Given the description of an element on the screen output the (x, y) to click on. 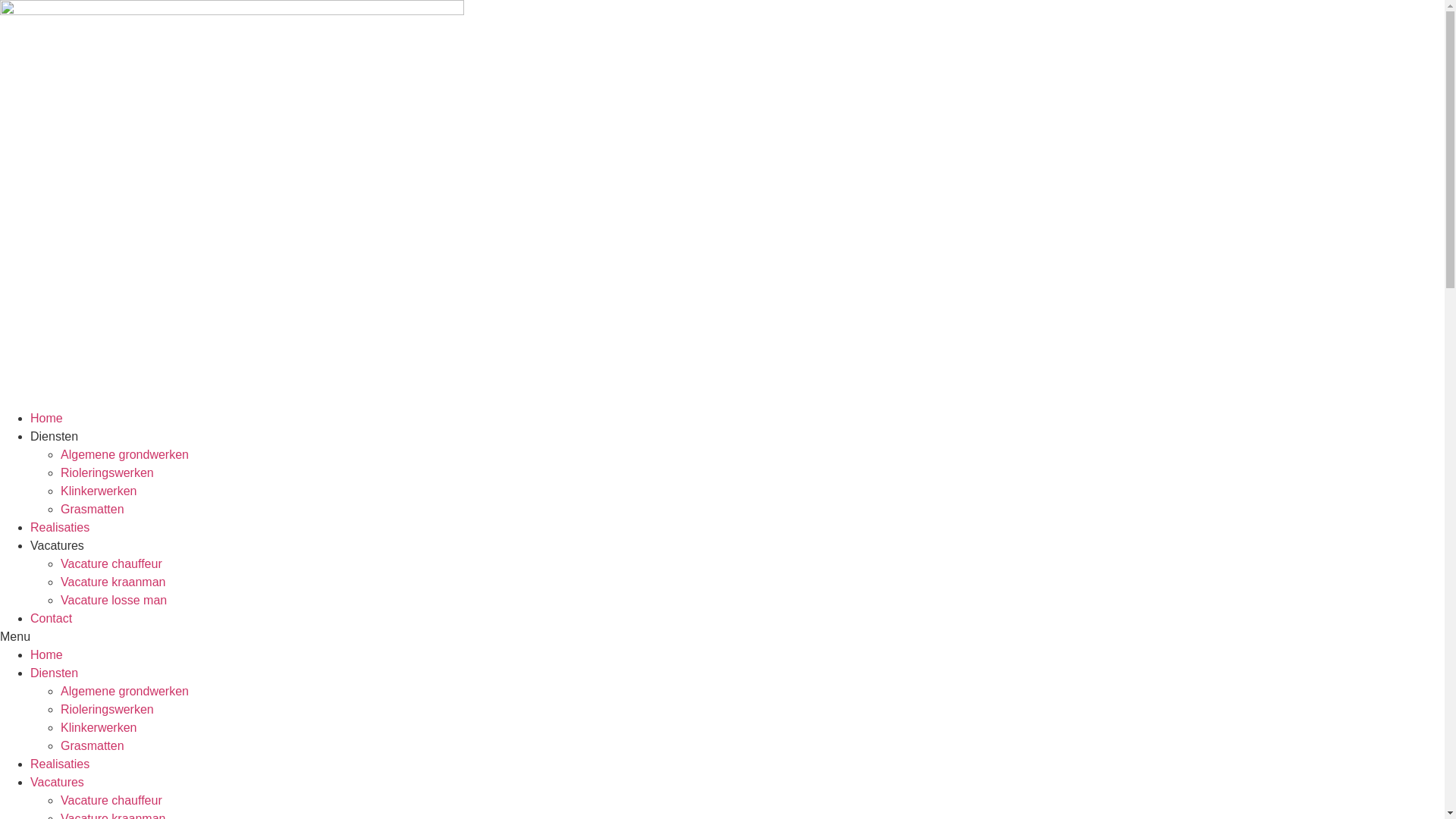
Contact Element type: text (51, 617)
Algemene grondwerken Element type: text (124, 690)
Vacature chauffeur Element type: text (111, 799)
Vacature losse man Element type: text (113, 599)
Diensten Element type: text (54, 435)
Vacature kraanman Element type: text (112, 581)
Klinkerwerken Element type: text (98, 490)
Realisaties Element type: text (59, 526)
Algemene grondwerken Element type: text (124, 454)
Grasmatten Element type: text (92, 508)
Vacatures Element type: text (57, 545)
Home Element type: text (46, 417)
Vacature chauffeur Element type: text (111, 563)
Realisaties Element type: text (59, 763)
Vacatures Element type: text (57, 781)
Grasmatten Element type: text (92, 745)
Rioleringswerken Element type: text (106, 472)
Rioleringswerken Element type: text (106, 708)
Diensten Element type: text (54, 672)
Klinkerwerken Element type: text (98, 727)
Home Element type: text (46, 654)
